Given the description of an element on the screen output the (x, y) to click on. 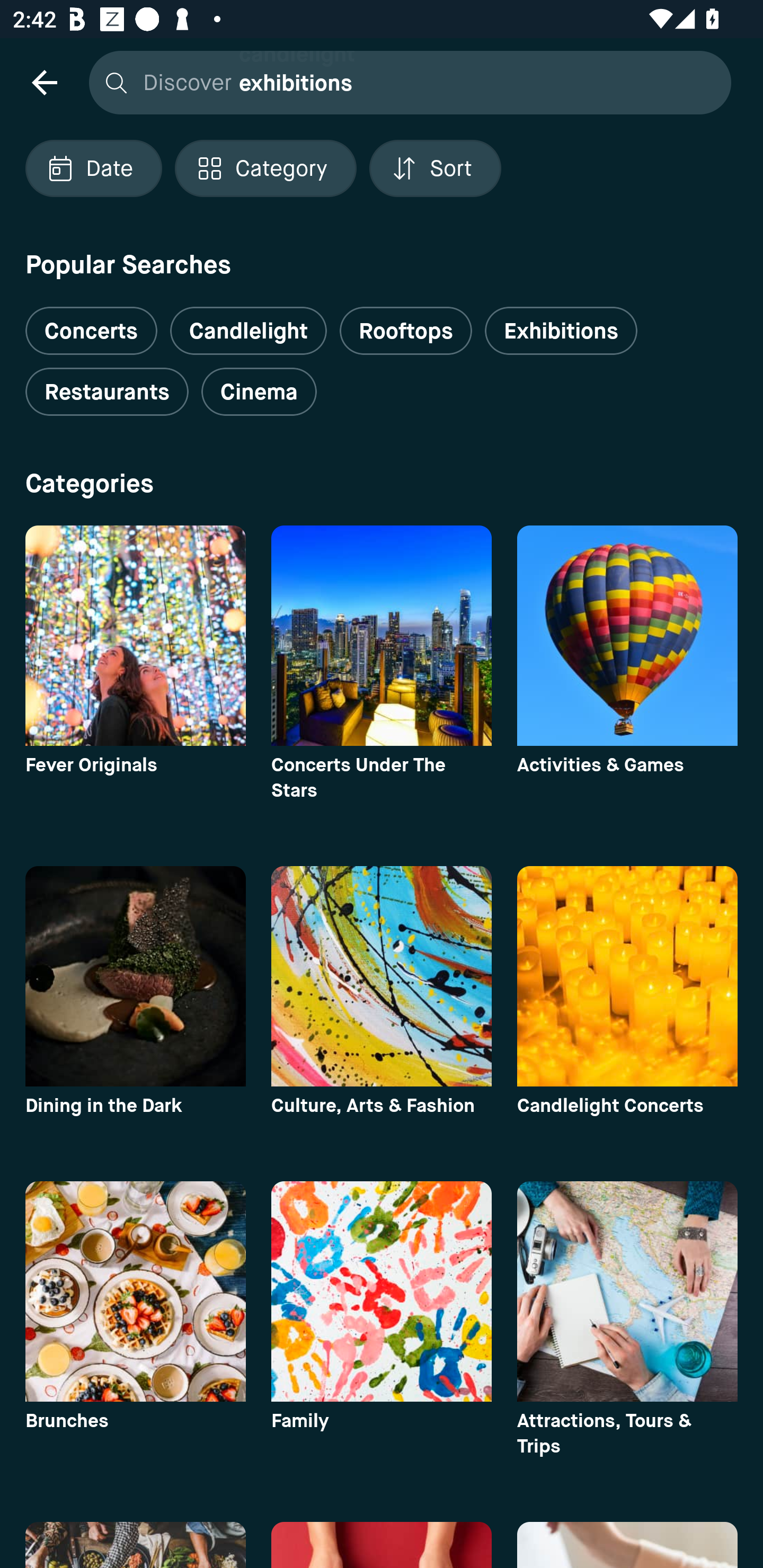
navigation icon (44, 81)
Discover candlelight exhibitions (405, 81)
Localized description Date (93, 168)
Localized description Category (265, 168)
Localized description Sort (435, 168)
Concerts (91, 323)
Candlelight (248, 330)
Rooftops (405, 330)
Exhibitions (560, 330)
Restaurants (106, 391)
Cinema (258, 391)
category image (135, 635)
category image (381, 635)
category image (627, 635)
category image (135, 975)
category image (381, 975)
category image (627, 975)
category image (135, 1290)
category image (381, 1290)
category image (627, 1290)
